Given the description of an element on the screen output the (x, y) to click on. 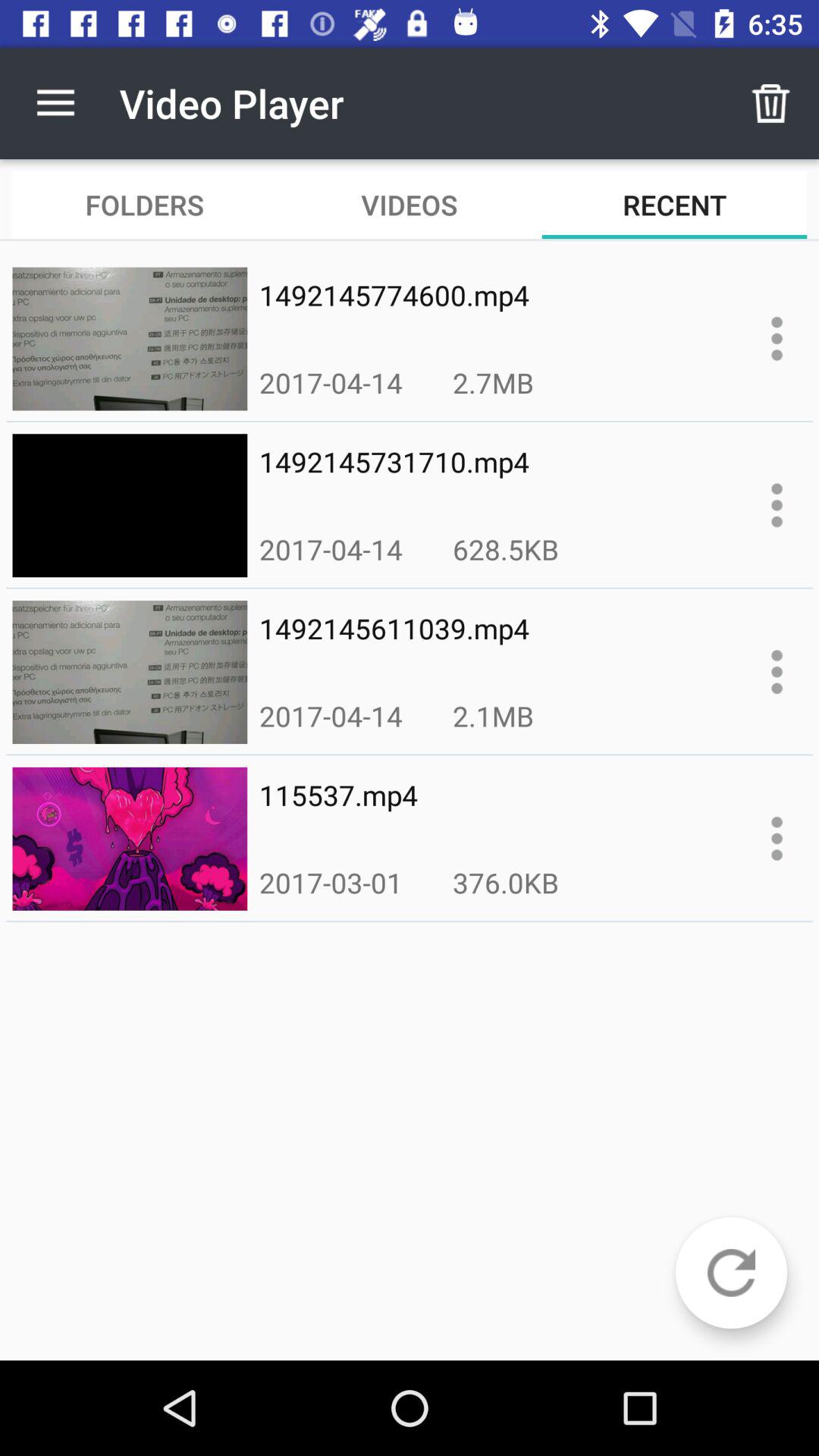
swipe to the 376.0kb (505, 882)
